Given the description of an element on the screen output the (x, y) to click on. 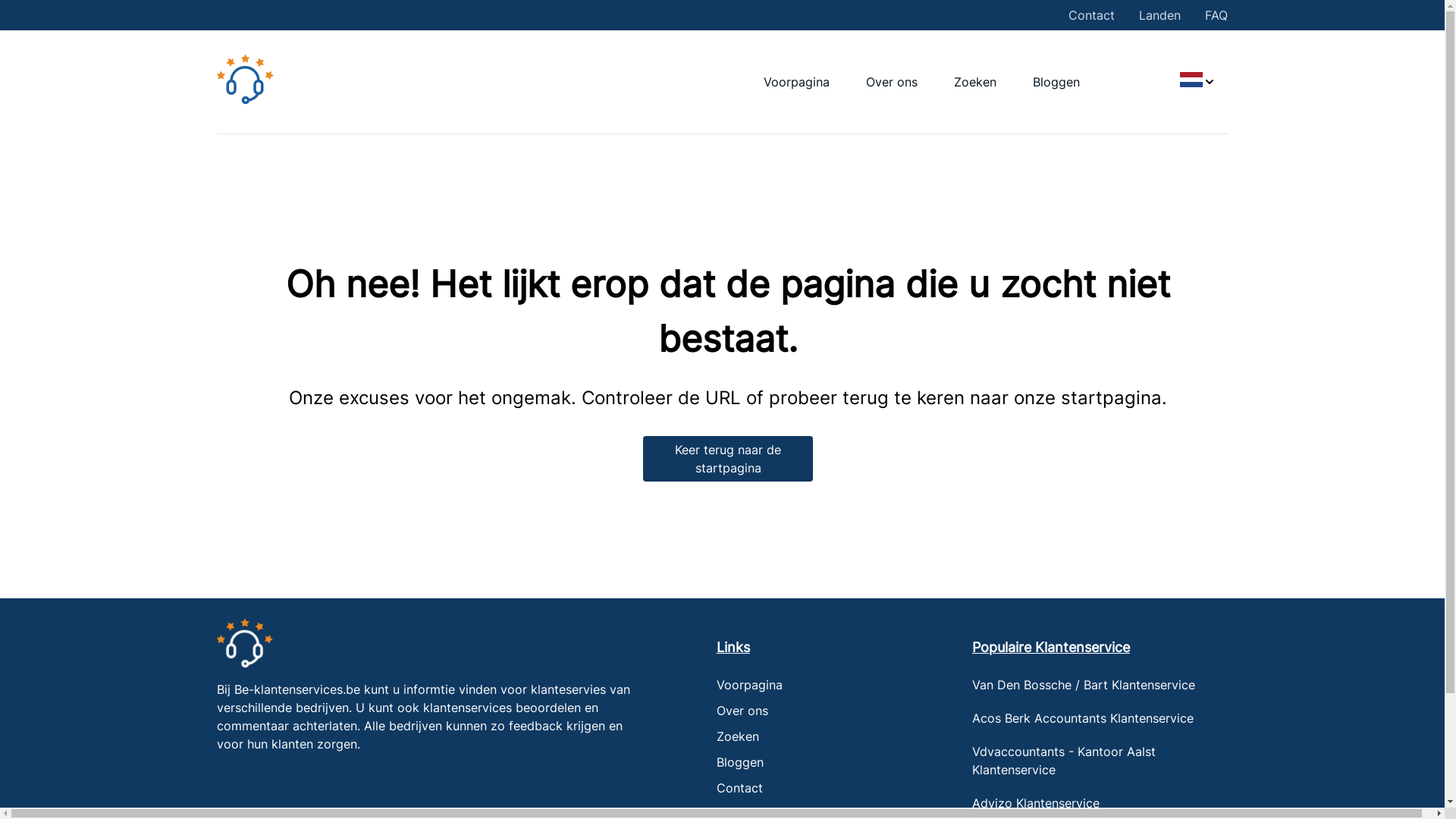
Voorpagina Element type: text (796, 81)
Acos Berk Accountants Klantenservice Element type: text (1099, 718)
Bloggen Element type: text (1055, 81)
Over ons Element type: text (891, 81)
Zoeken Element type: text (974, 81)
Over ons Element type: text (742, 710)
Vdvaccountants - Kantoor Aalst Klantenservice Element type: text (1099, 760)
Van Den Bossche / Bart Klantenservice Element type: text (1099, 684)
FAQ Element type: text (1215, 15)
Landen Element type: text (1159, 15)
Voorpagina Element type: text (749, 684)
Contact Element type: text (1091, 15)
Advizo Klantenservice Element type: text (1099, 802)
Zoeken Element type: text (737, 736)
Contact Element type: text (739, 787)
Bloggen Element type: text (739, 762)
Keer terug naar de startpagina Element type: text (727, 458)
